Given the description of an element on the screen output the (x, y) to click on. 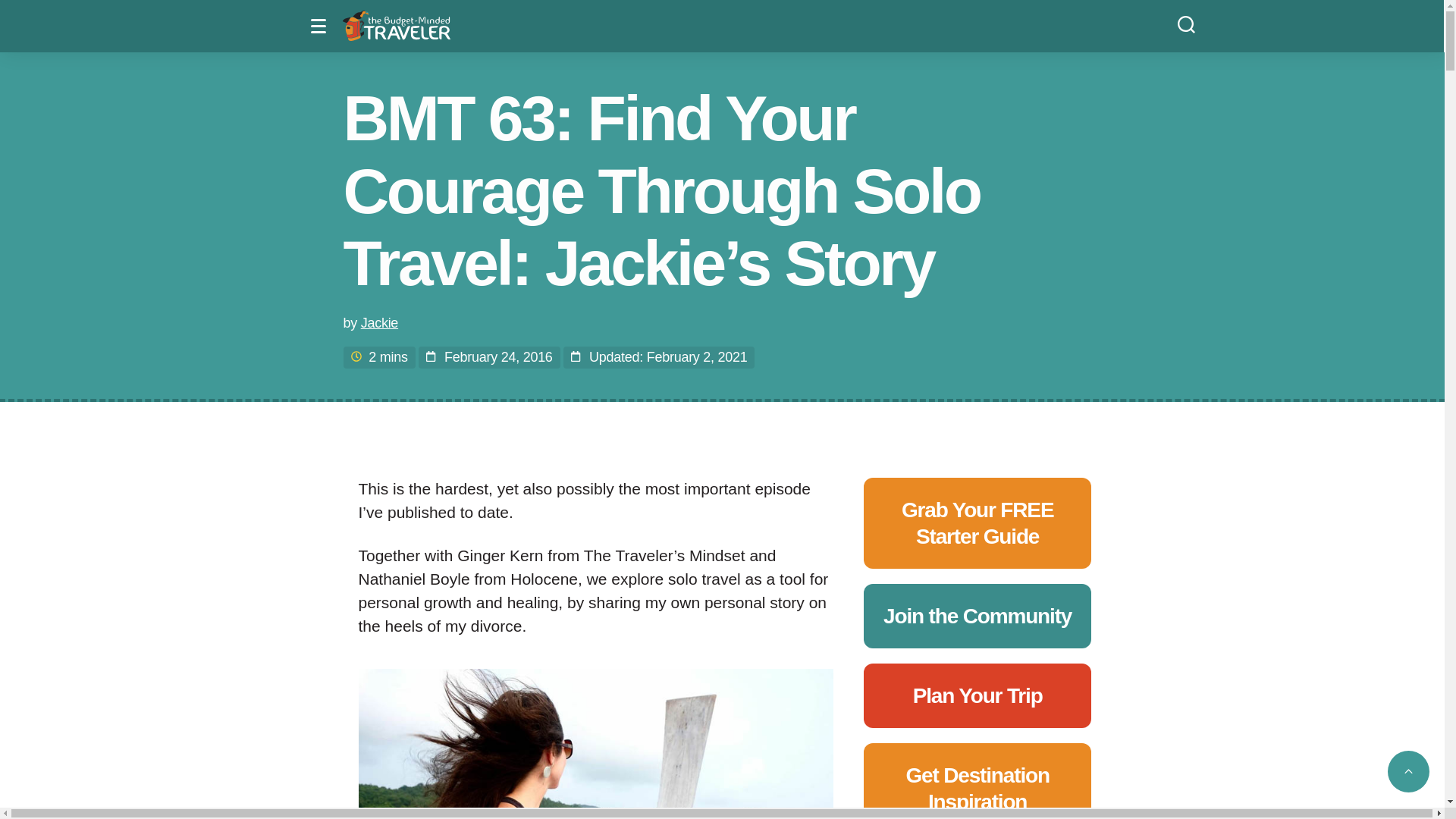
Plan Your Trip (977, 695)
Search (1185, 23)
The Budget Minded Traveler (395, 25)
Get Destination Inspiration (977, 788)
Grab Your FREE Starter Guide (977, 522)
Join the Community (977, 615)
Jackie (379, 322)
Menu toggle (322, 25)
